Given the description of an element on the screen output the (x, y) to click on. 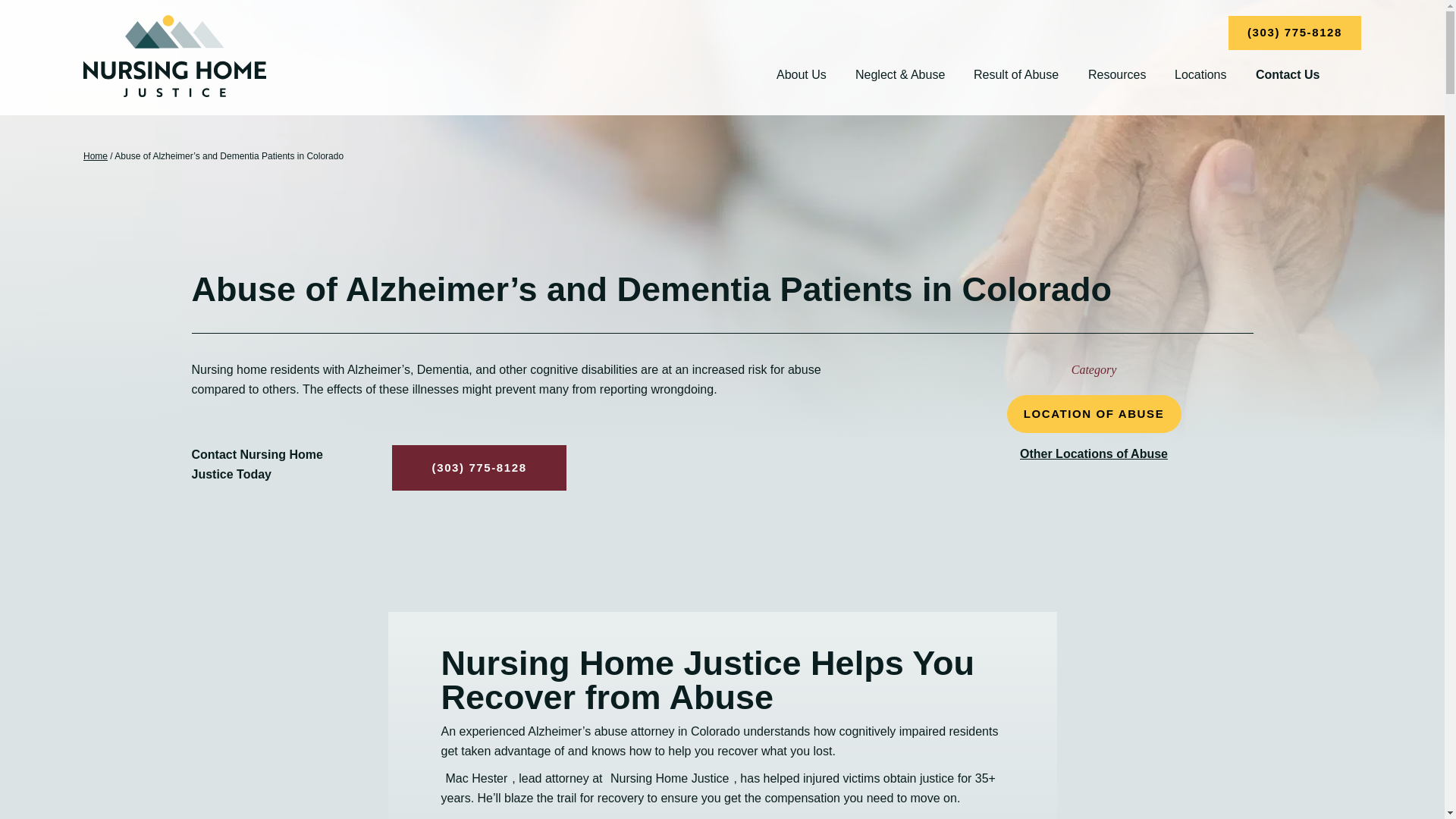
Contact Us (1287, 74)
Result of Abuse (1016, 74)
About Us (801, 74)
Resources (1116, 74)
Locations (1200, 74)
